Given the description of an element on the screen output the (x, y) to click on. 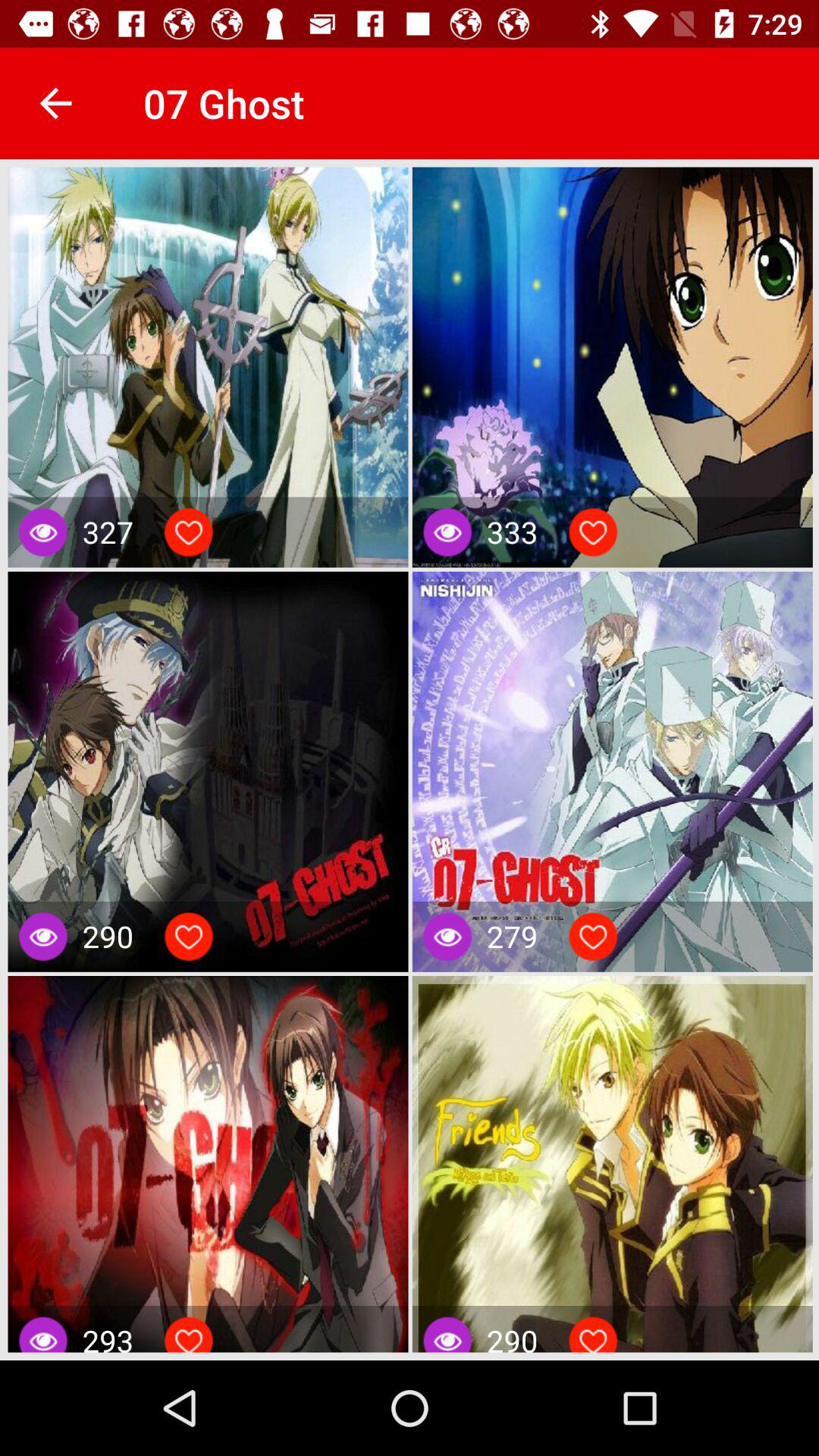
like the item (188, 1338)
